Given the description of an element on the screen output the (x, y) to click on. 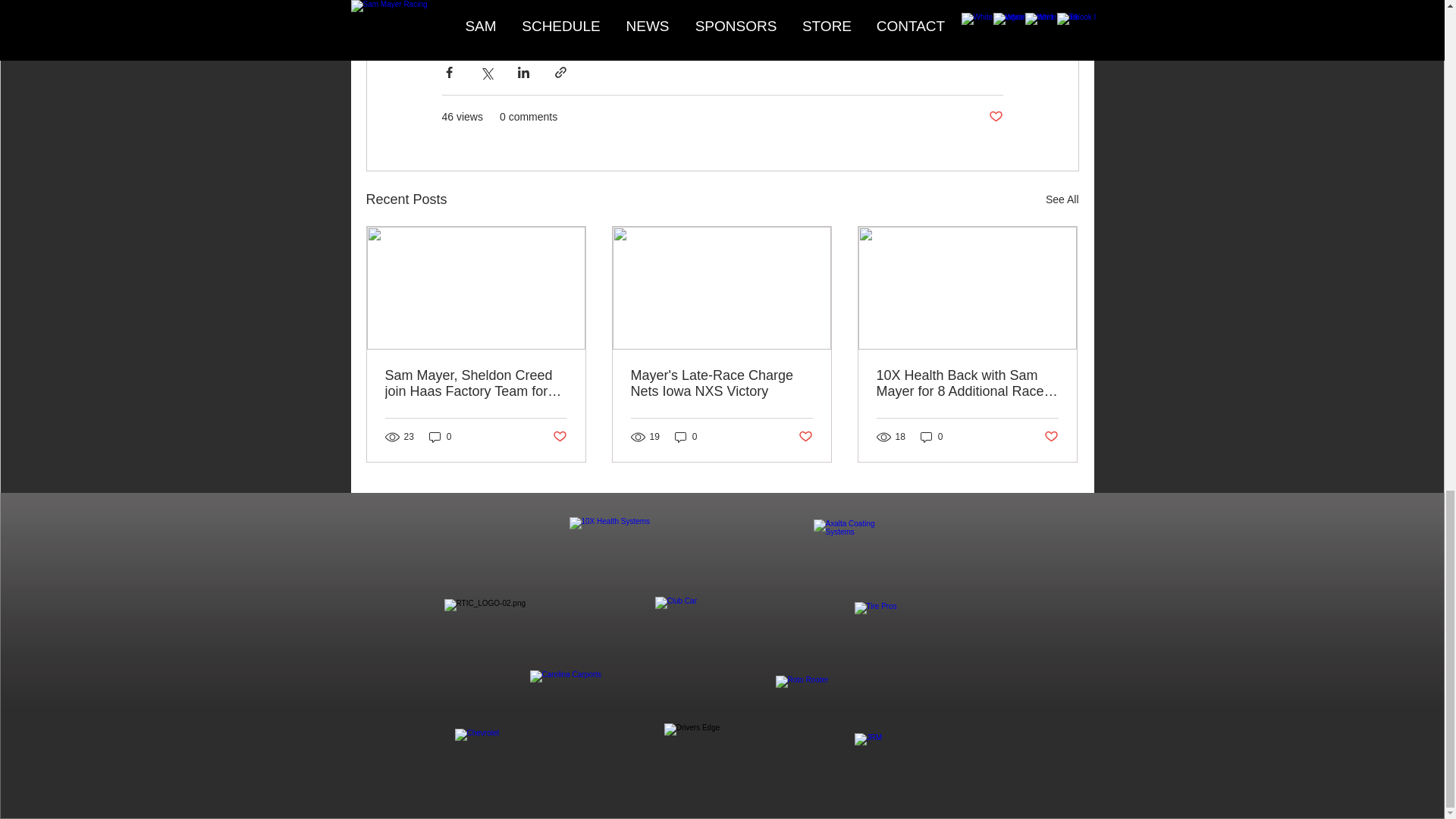
0 (440, 436)
0 (931, 436)
Post not marked as liked (558, 437)
See All (1061, 199)
Post not marked as liked (804, 437)
0 (685, 436)
Post not marked as liked (1050, 437)
Post not marked as liked (995, 116)
